Given the description of an element on the screen output the (x, y) to click on. 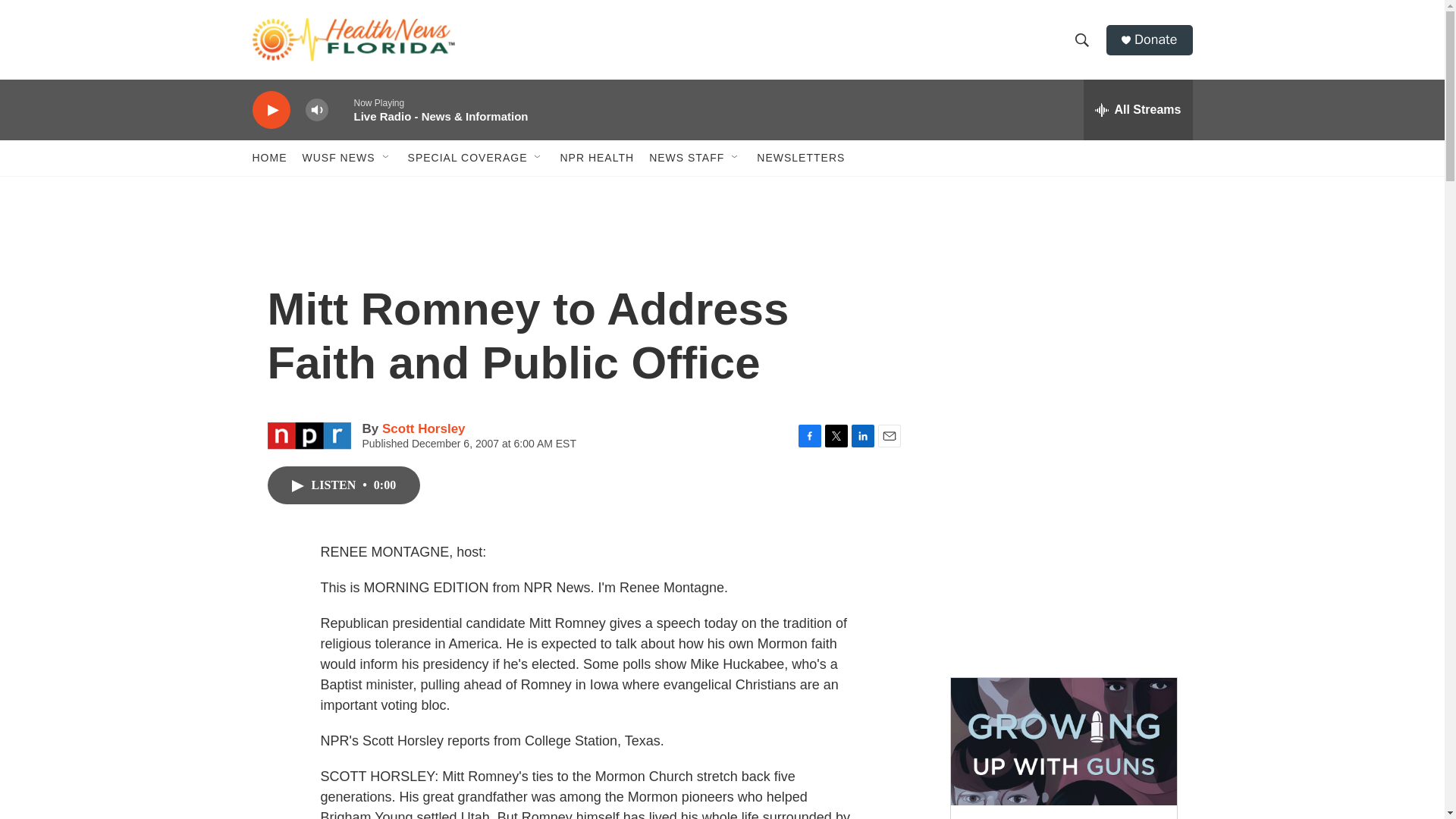
3rd party ad content (1062, 331)
3rd party ad content (1062, 552)
